Given the description of an element on the screen output the (x, y) to click on. 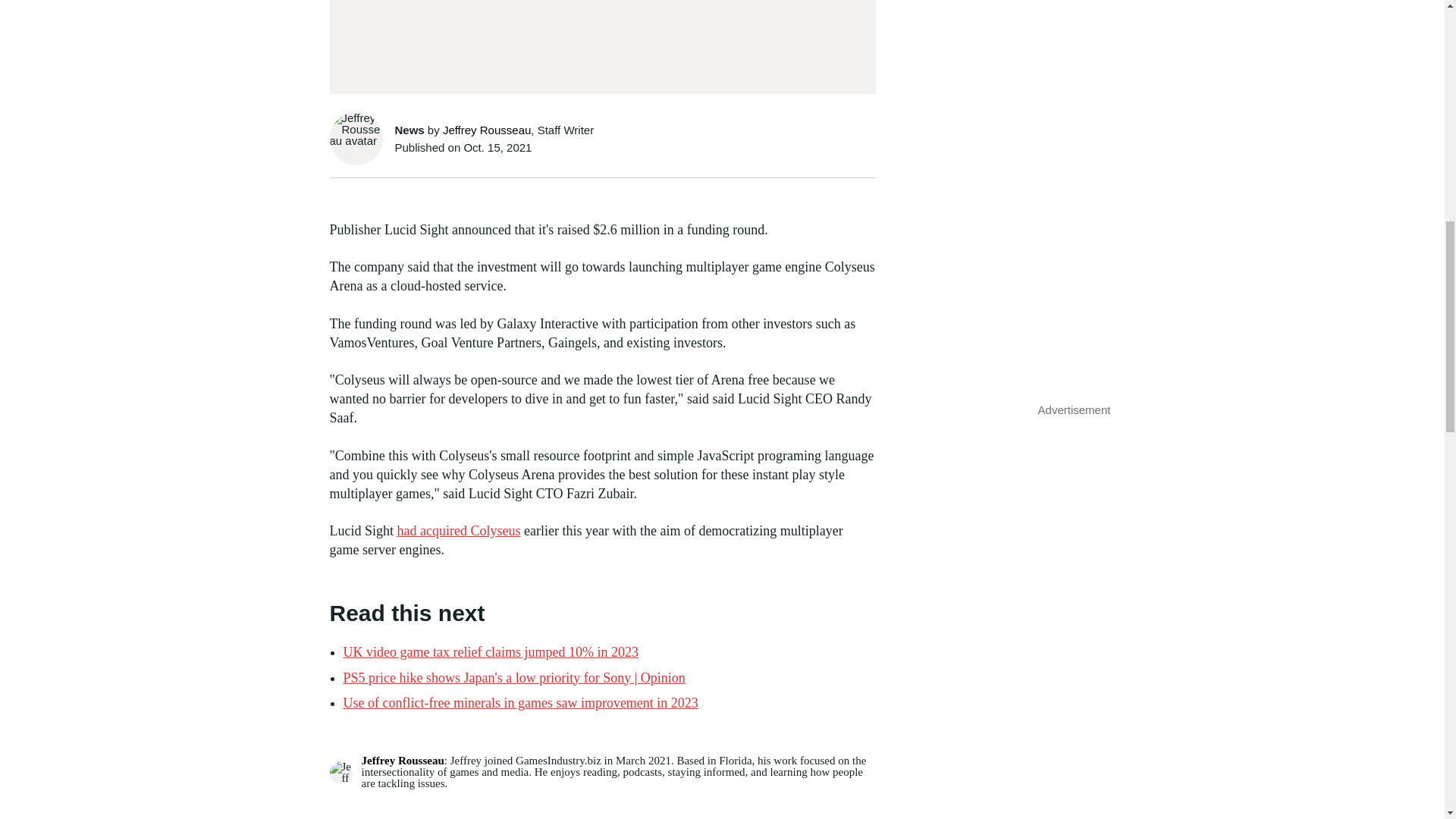
Jeffrey Rousseau (402, 760)
Jeffrey Rousseau (486, 129)
had acquired Colyseus (459, 530)
